Given the description of an element on the screen output the (x, y) to click on. 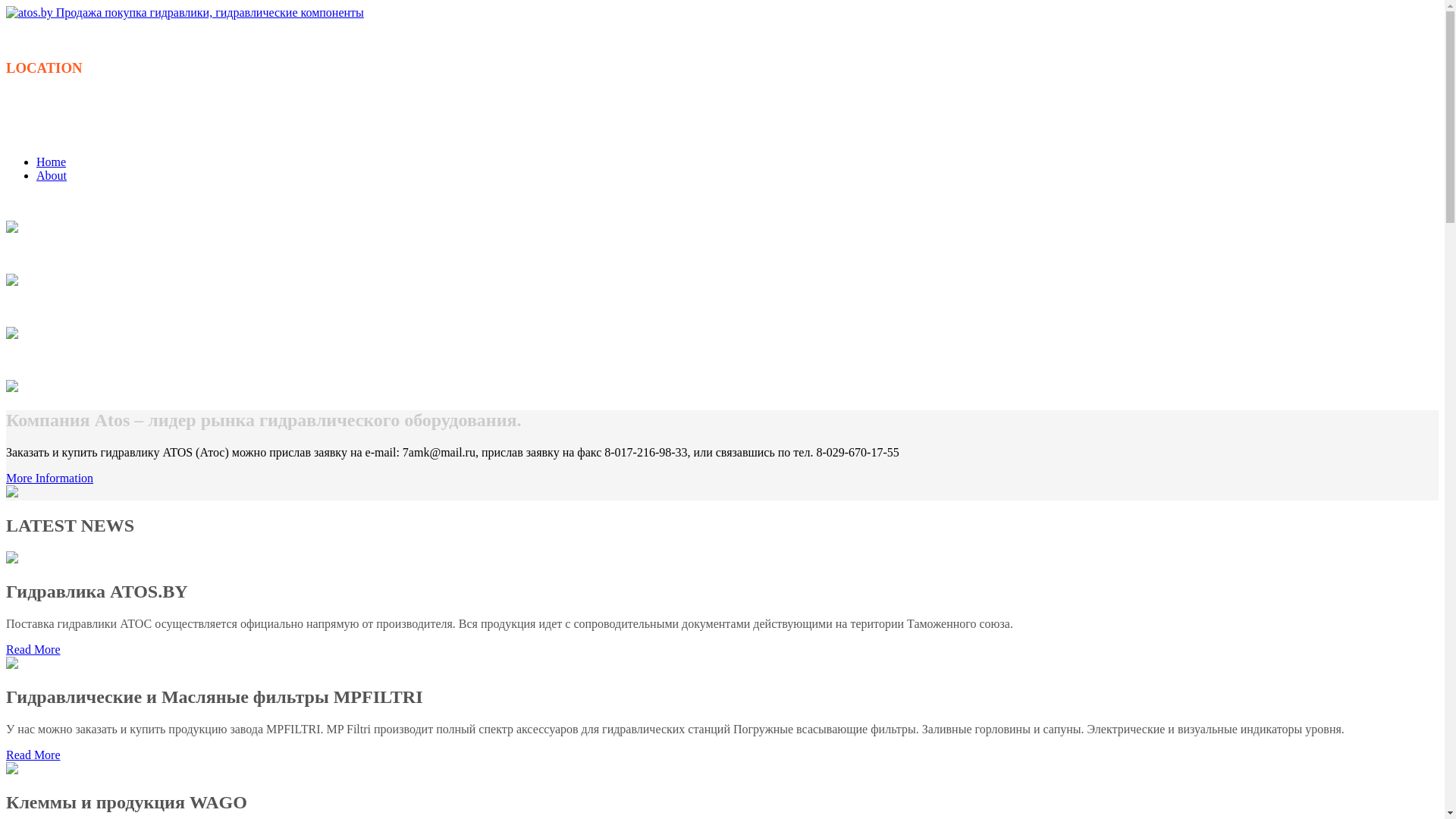
Home Element type: text (50, 161)
Read More Element type: text (33, 649)
About Element type: text (51, 175)
Read More Element type: text (33, 754)
More Information Element type: text (49, 477)
